Given the description of an element on the screen output the (x, y) to click on. 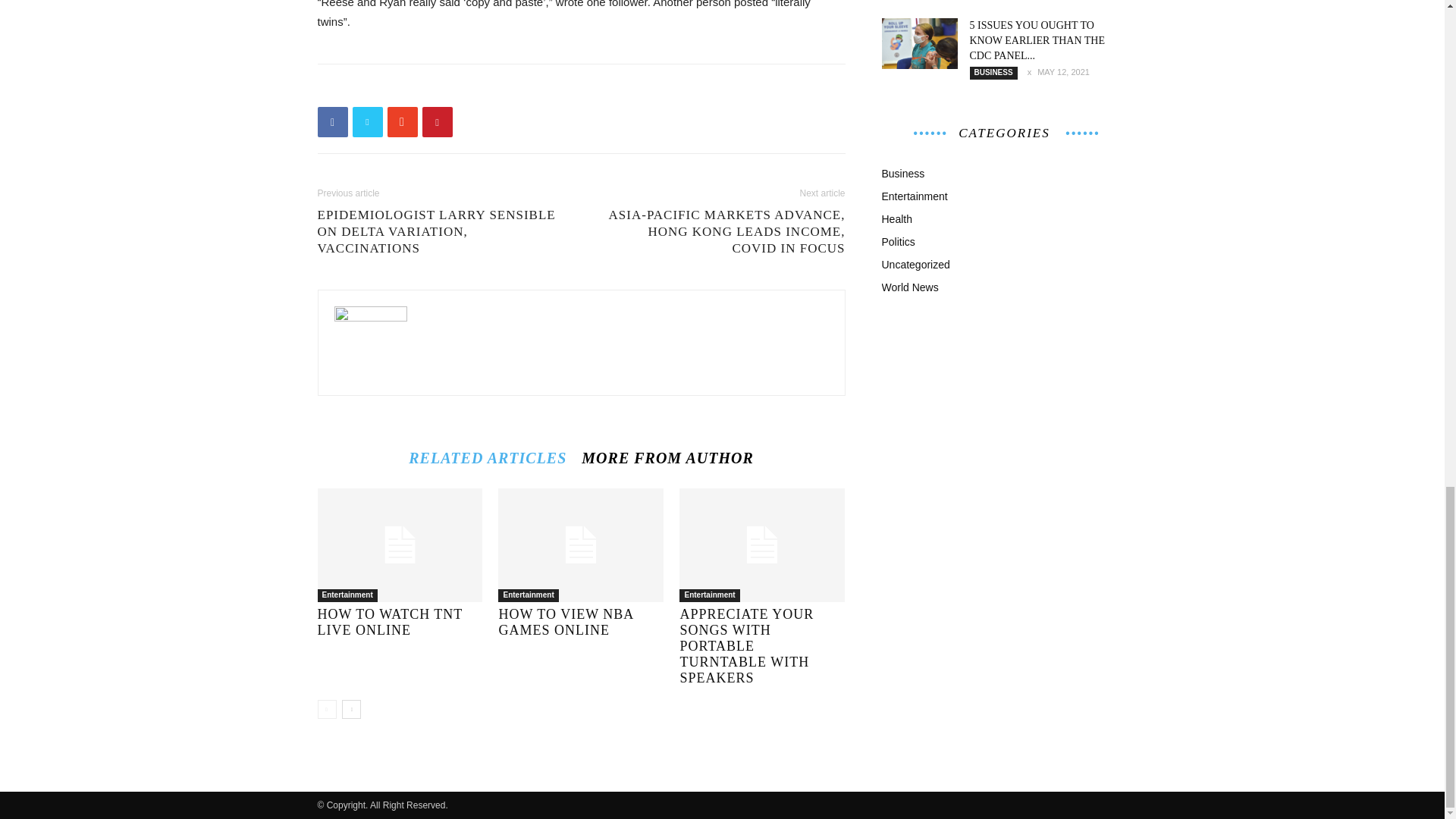
How to Watch TNT Live Online (399, 544)
How to View NBA Games Online (580, 544)
How to View NBA Games Online (565, 622)
How to Watch TNT Live Online (390, 622)
Appreciate Your Songs With Portable Turntable With Speakers (746, 645)
Appreciate Your Songs With Portable Turntable With Speakers (761, 544)
